Given the description of an element on the screen output the (x, y) to click on. 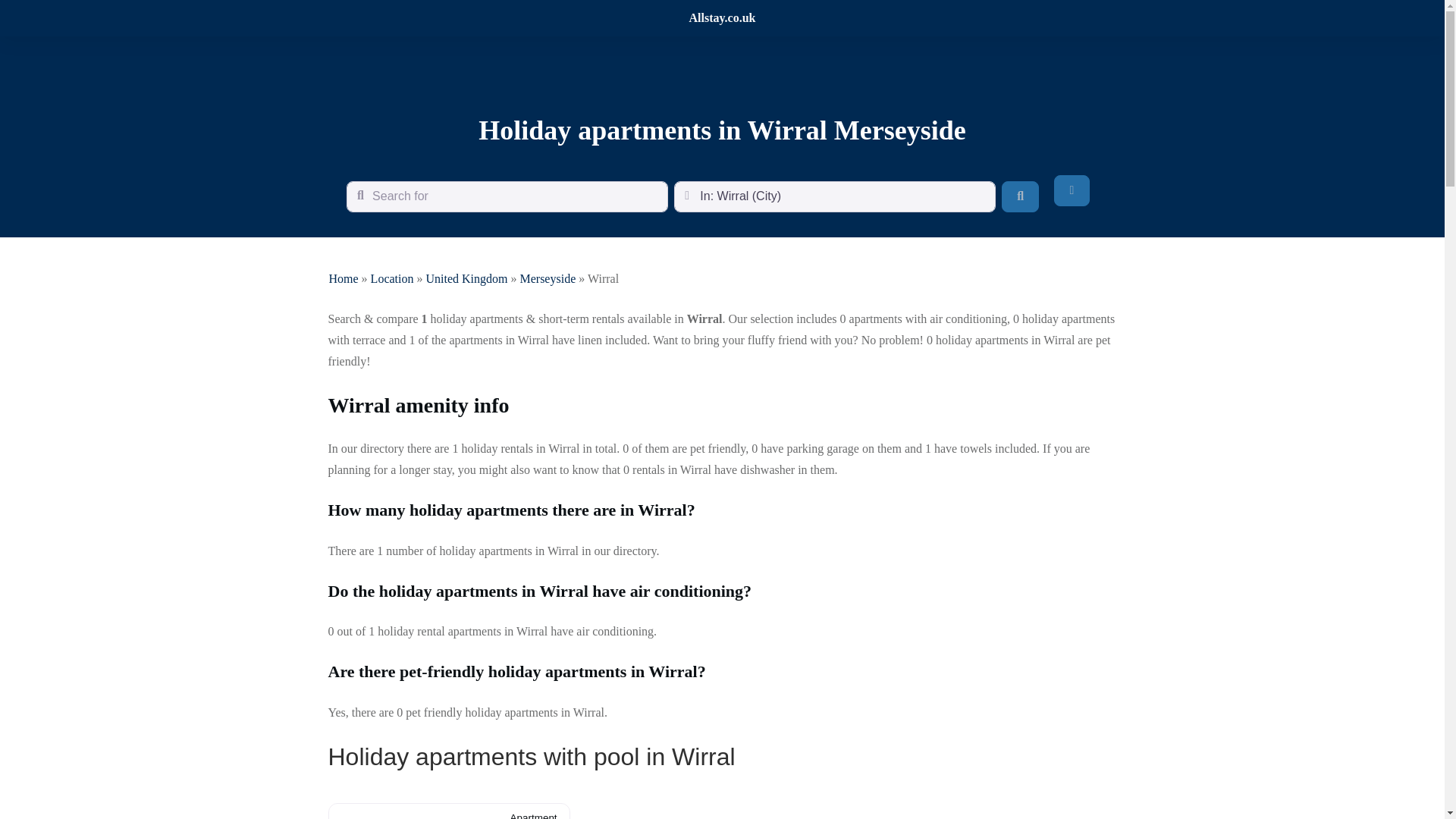
United Kingdom (465, 278)
Location (392, 278)
Search (1020, 195)
Next (550, 811)
Allstay.co.uk (721, 17)
Merseyside (547, 278)
Previous (347, 811)
Advanced Filters (1071, 190)
Home (343, 278)
